Given the description of an element on the screen output the (x, y) to click on. 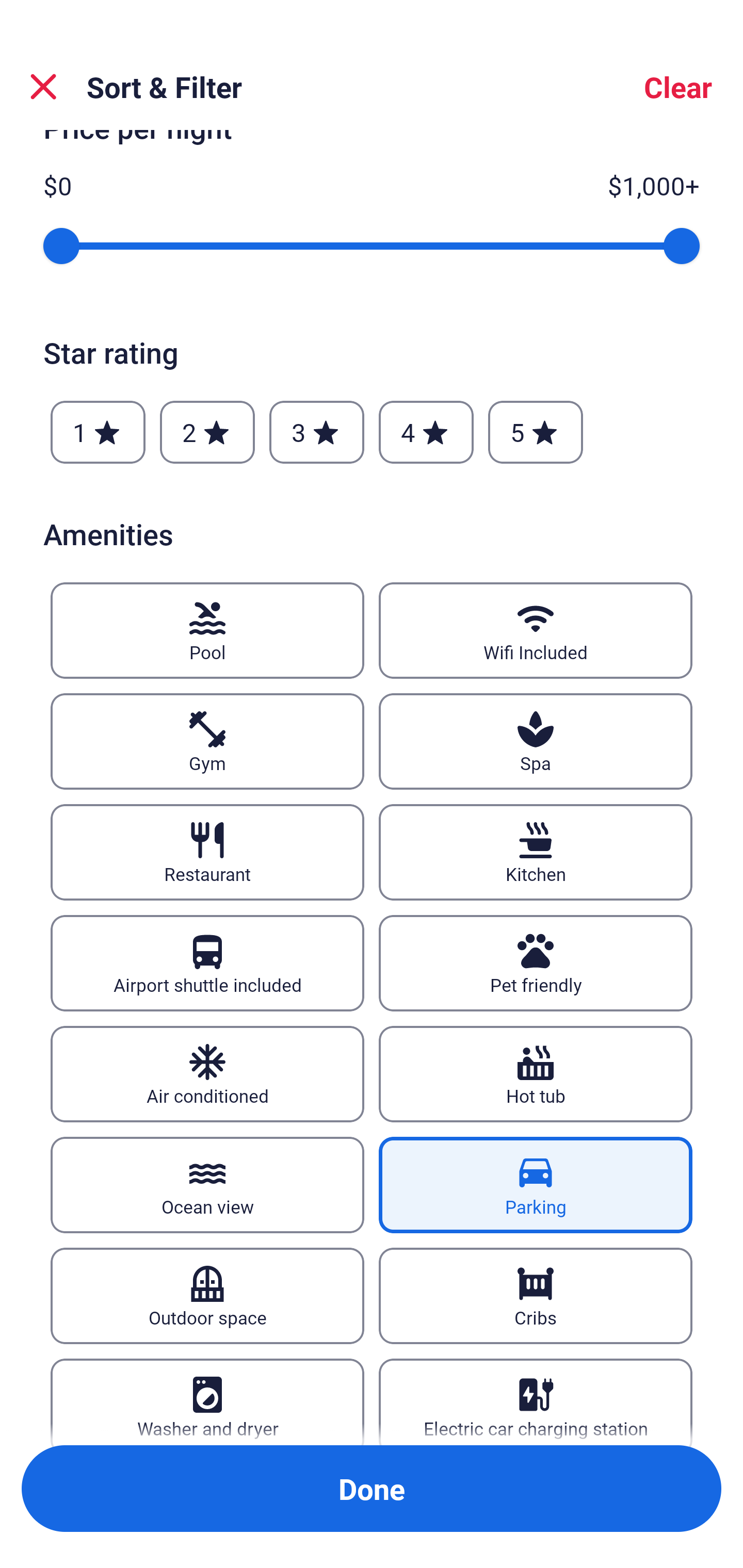
Close Sort and Filter (43, 86)
Clear (677, 86)
1 (97, 431)
2 (206, 431)
3 (316, 431)
4 (426, 431)
5 (535, 431)
Pool (207, 629)
Wifi Included (535, 629)
Gym (207, 741)
Spa (535, 741)
Restaurant (207, 852)
Kitchen (535, 852)
Airport shuttle included (207, 963)
Pet friendly (535, 963)
Air conditioned (207, 1073)
Hot tub (535, 1073)
Ocean view (207, 1185)
Parking (535, 1185)
Outdoor space (207, 1295)
Cribs (535, 1295)
Washer and dryer (207, 1401)
Electric car charging station (535, 1401)
Apply and close Sort and Filter Done (371, 1488)
